Given the description of an element on the screen output the (x, y) to click on. 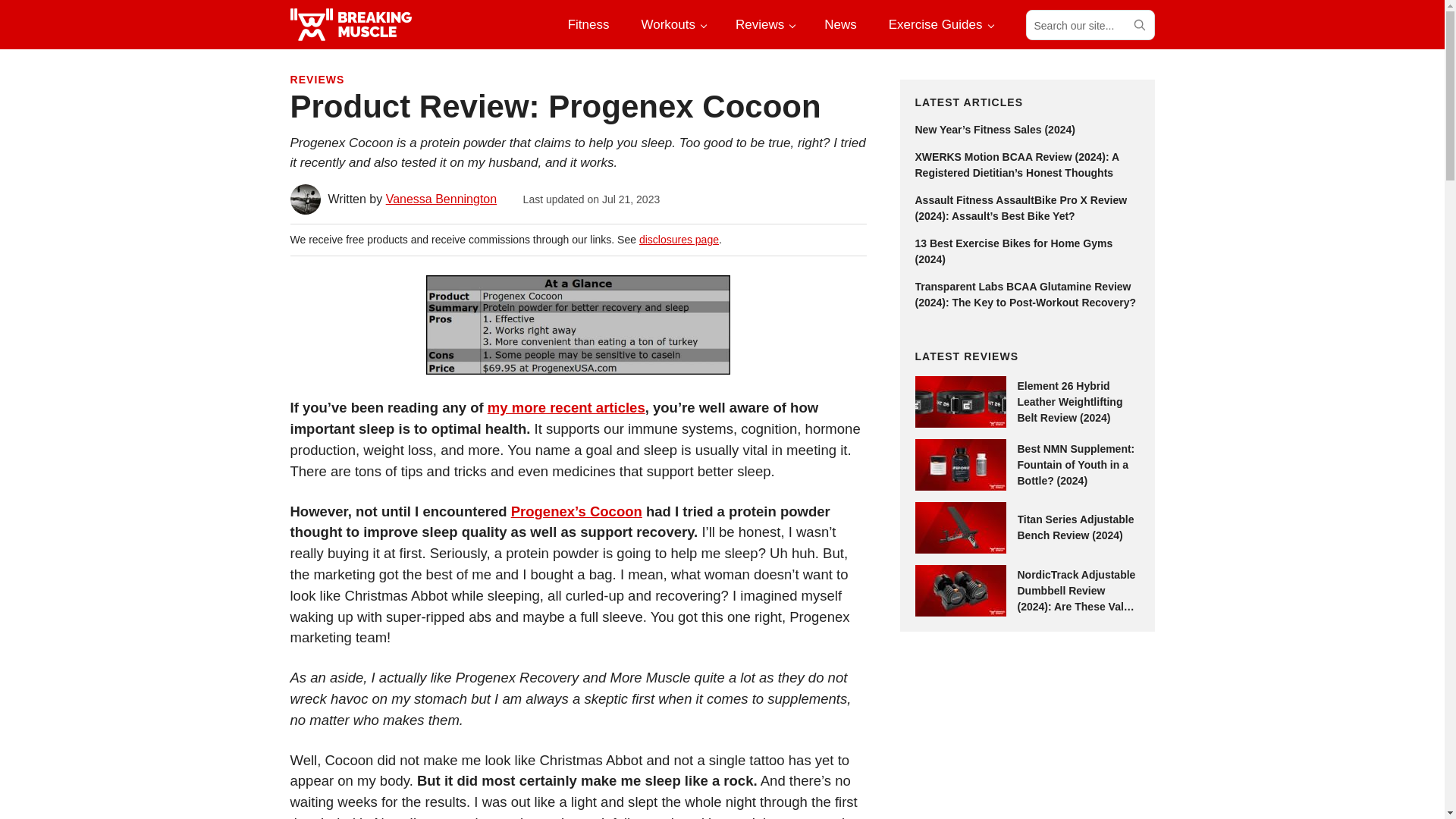
Fitness (588, 24)
Reviews (764, 24)
Workouts (672, 24)
Submit search (1138, 24)
Submit search (1138, 24)
